Given the description of an element on the screen output the (x, y) to click on. 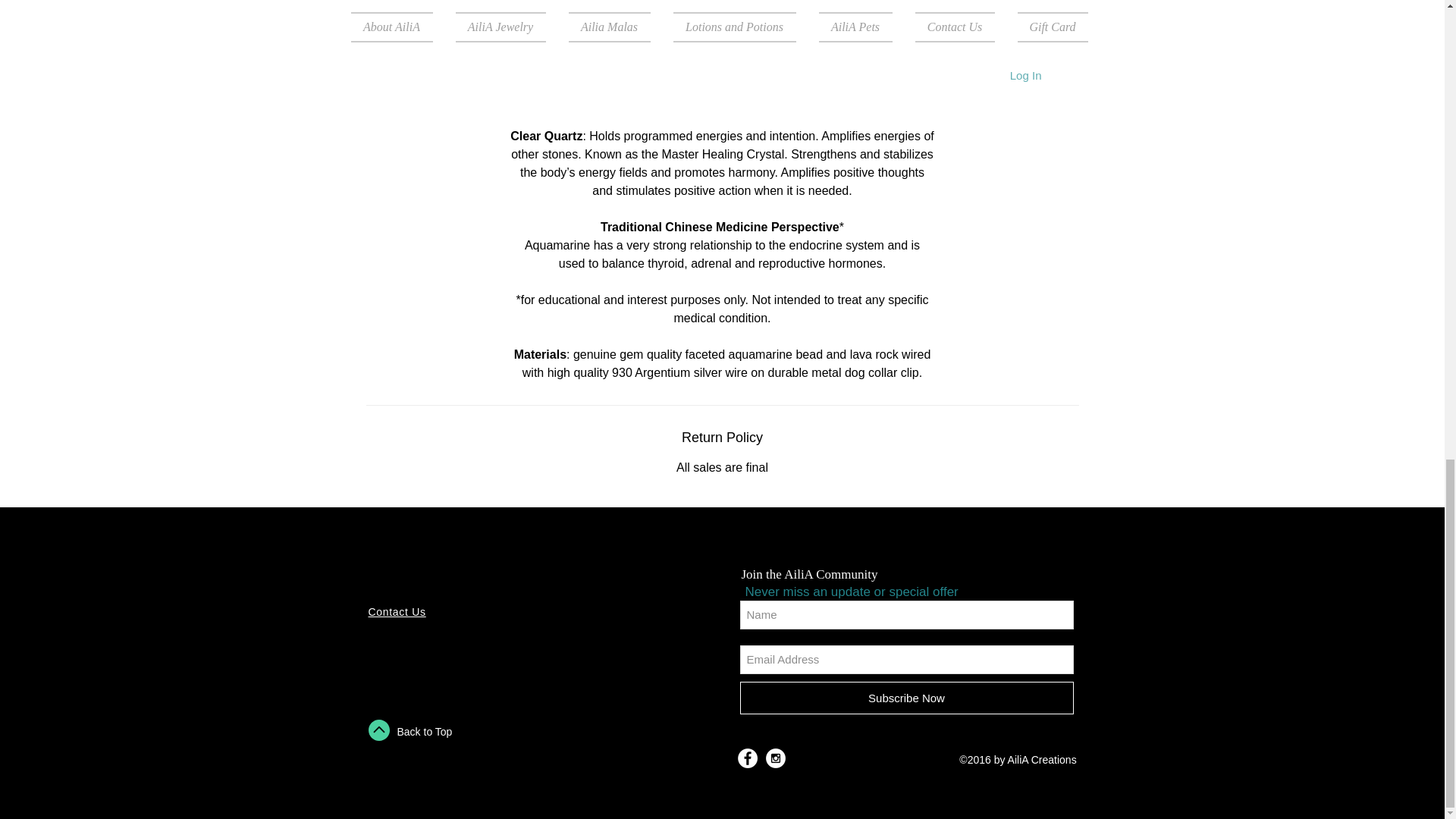
Contact Us (397, 612)
Subscribe Now (906, 697)
Back to Top (424, 731)
